Given the description of an element on the screen output the (x, y) to click on. 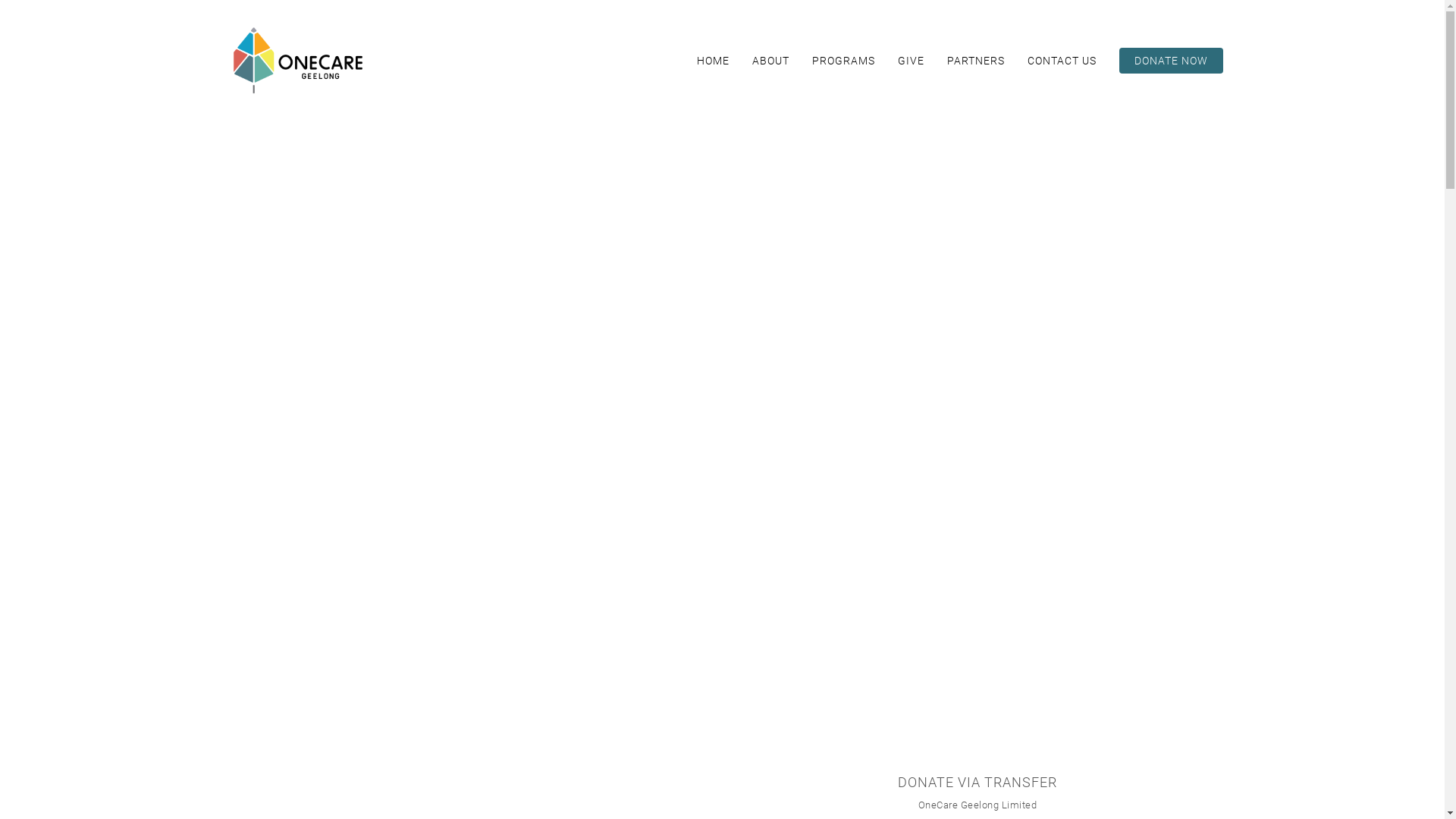
OneCare For Geelong Live Event Element type: hover (722, 432)
PARTNERS Element type: text (975, 60)
ABOUT Element type: text (770, 60)
GIVE Element type: text (910, 60)
DONATE NOW Element type: text (1171, 60)
PROGRAMS Element type: text (843, 60)
HOME Element type: text (712, 60)
CONTACT US Element type: text (1061, 60)
